Given the description of an element on the screen output the (x, y) to click on. 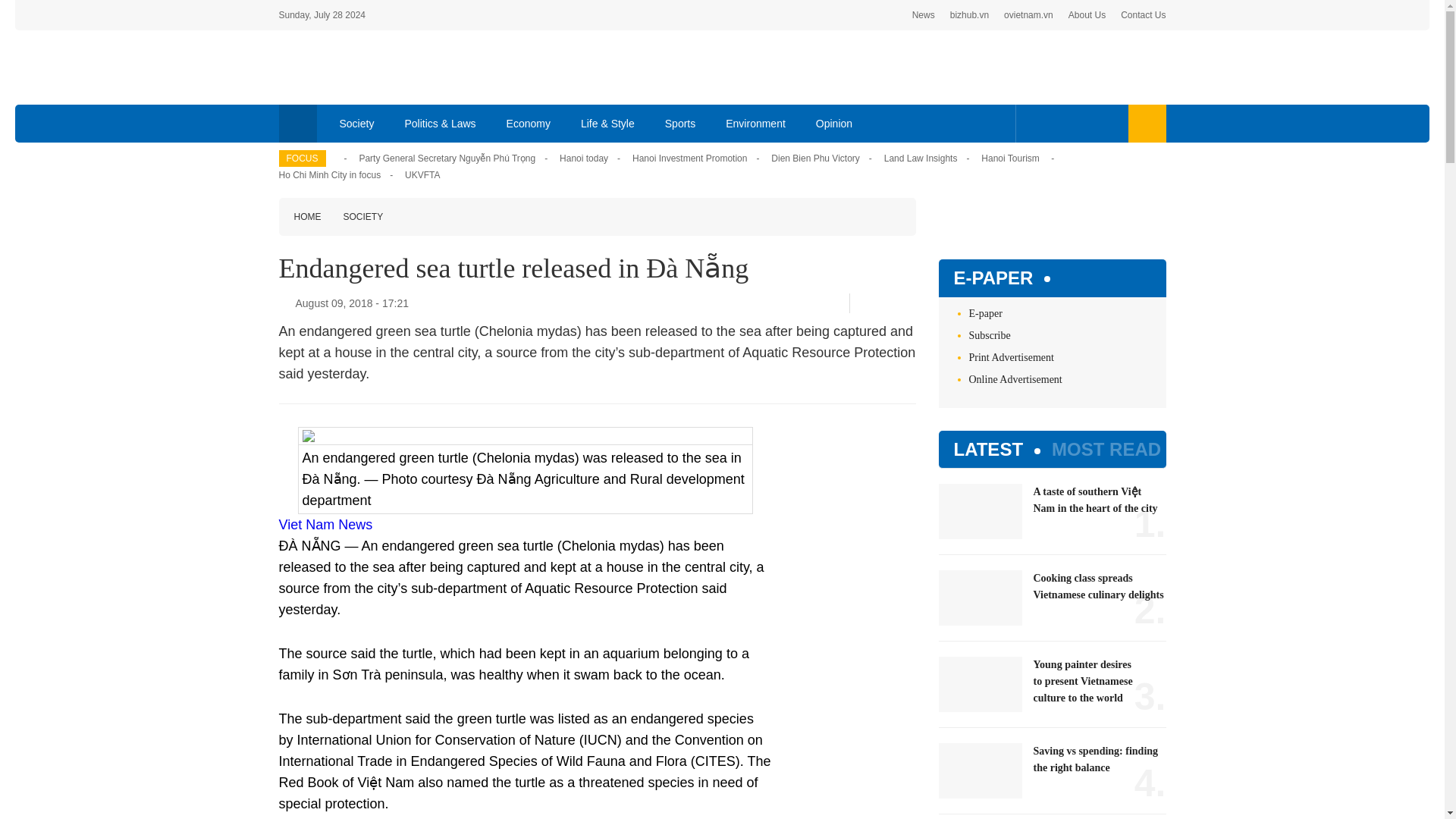
Twitter (885, 303)
Contact Us (1143, 15)
Youtube (1081, 122)
Economy (529, 123)
ovietnam.vn (1028, 15)
Facebook (865, 303)
Facebook (1035, 123)
Opinion (833, 123)
Twitter (1056, 122)
bizhub.vn (969, 15)
News (923, 15)
Email (909, 303)
Environment (755, 123)
Viet Nam News (325, 524)
About Us (1086, 15)
